Given the description of an element on the screen output the (x, y) to click on. 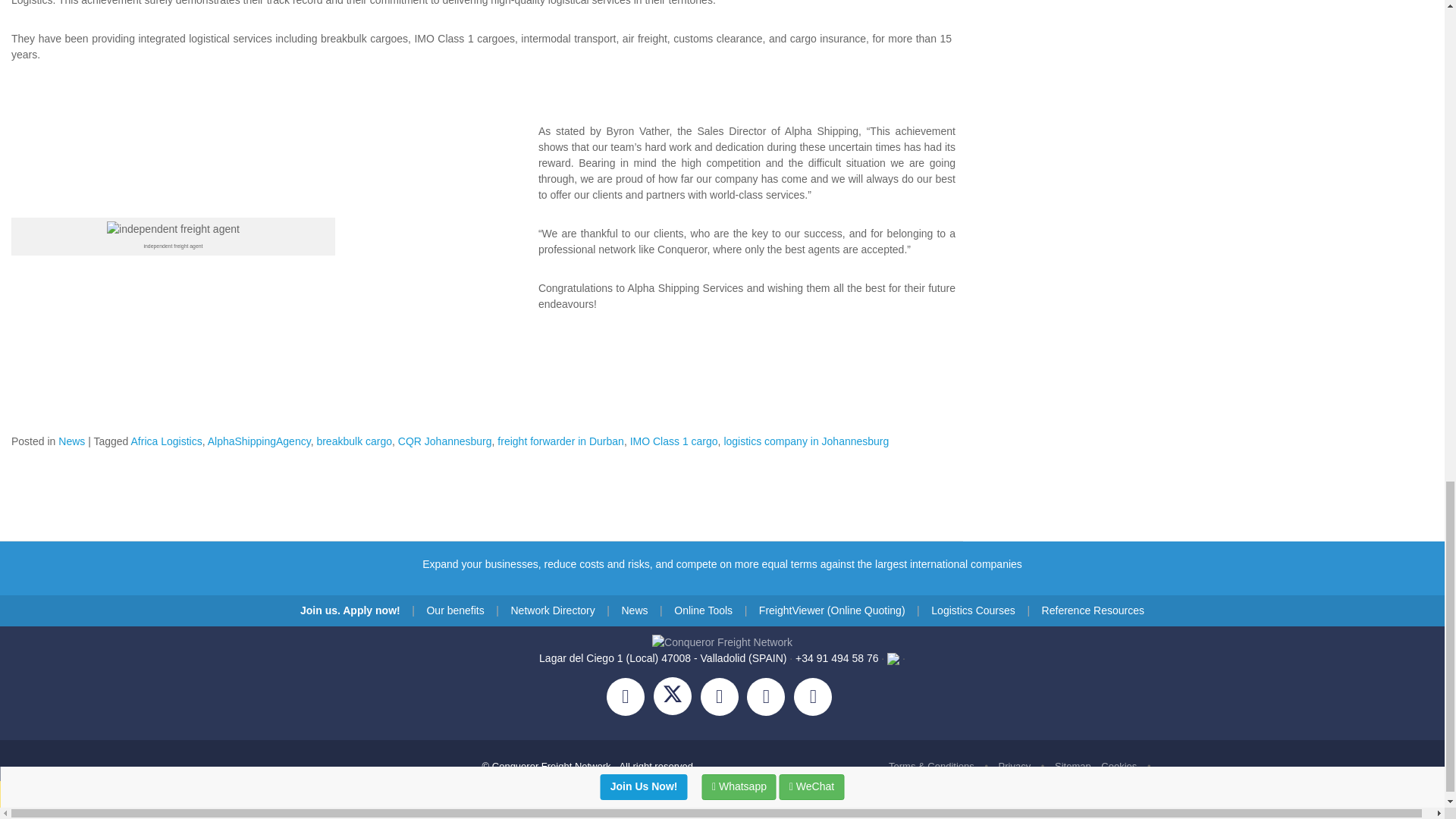
Youtube (815, 698)
Africa Logistics (166, 440)
News (71, 440)
Instagram (724, 698)
Facebook (630, 698)
Linkedin (769, 698)
Twitter (676, 698)
